Given the description of an element on the screen output the (x, y) to click on. 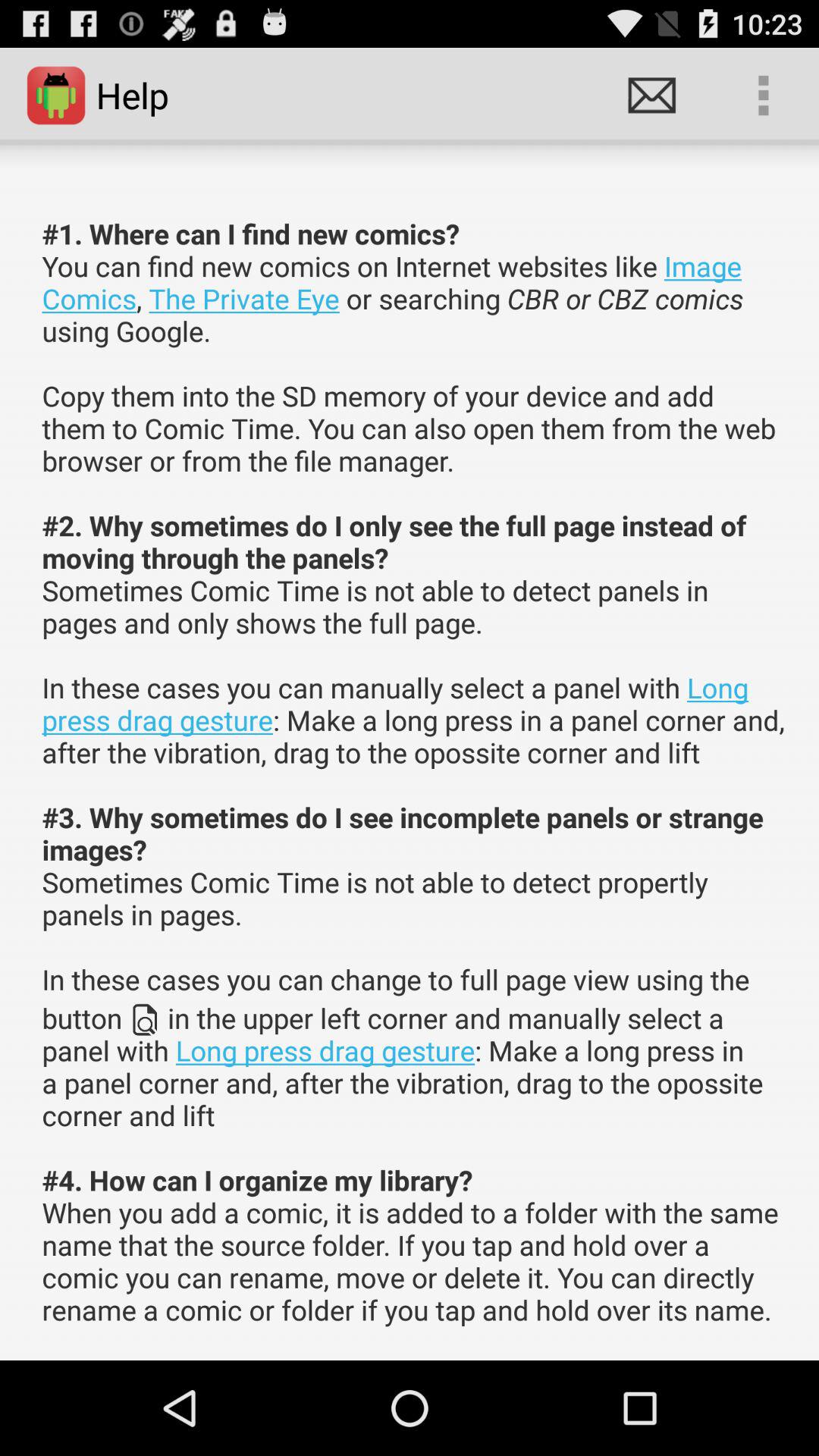
press item at the center (414, 771)
